Given the description of an element on the screen output the (x, y) to click on. 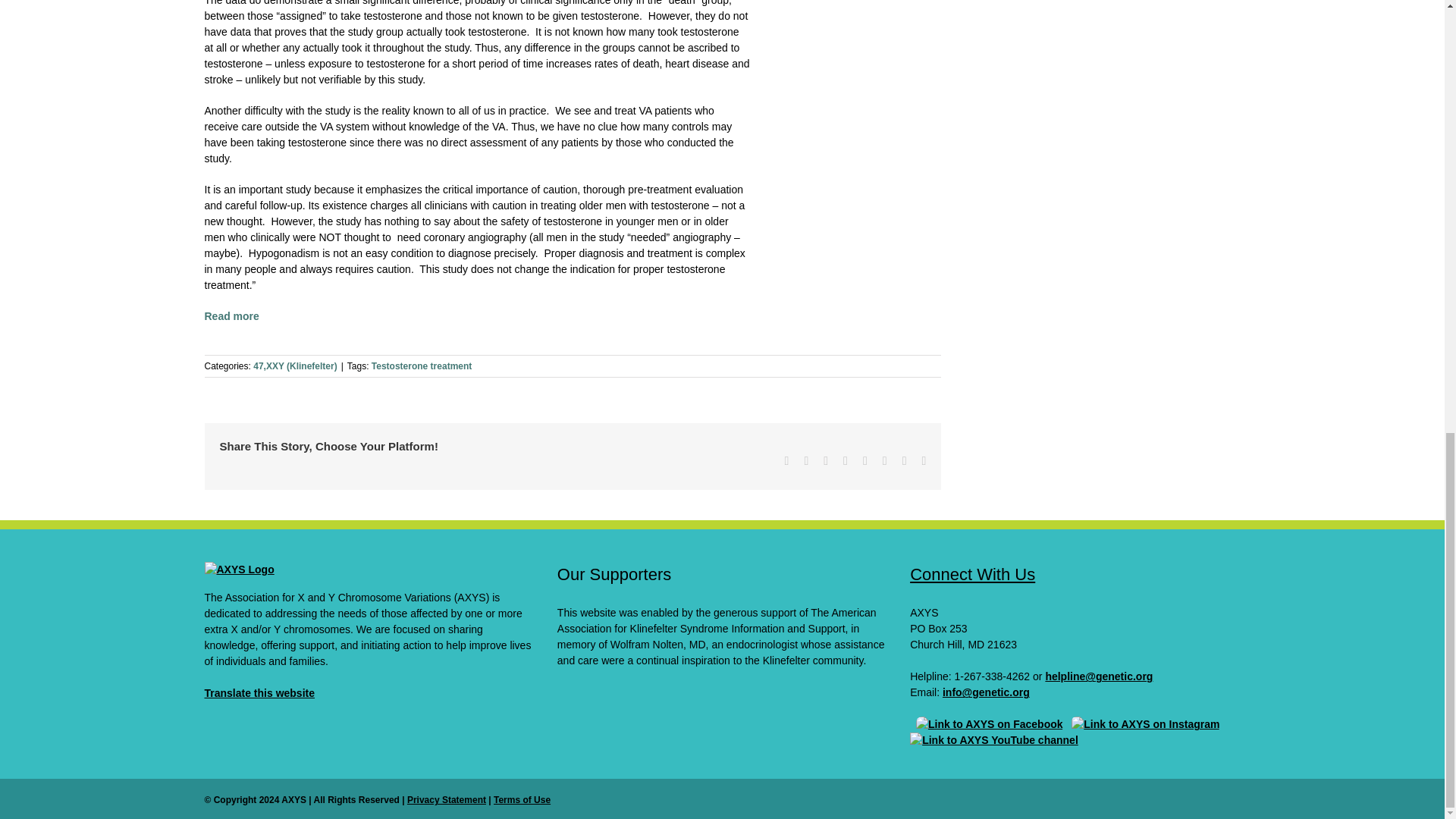
AXYS Facebook (988, 724)
AXYS Instagram (1145, 724)
AXYS YouTube (994, 739)
